Given the description of an element on the screen output the (x, y) to click on. 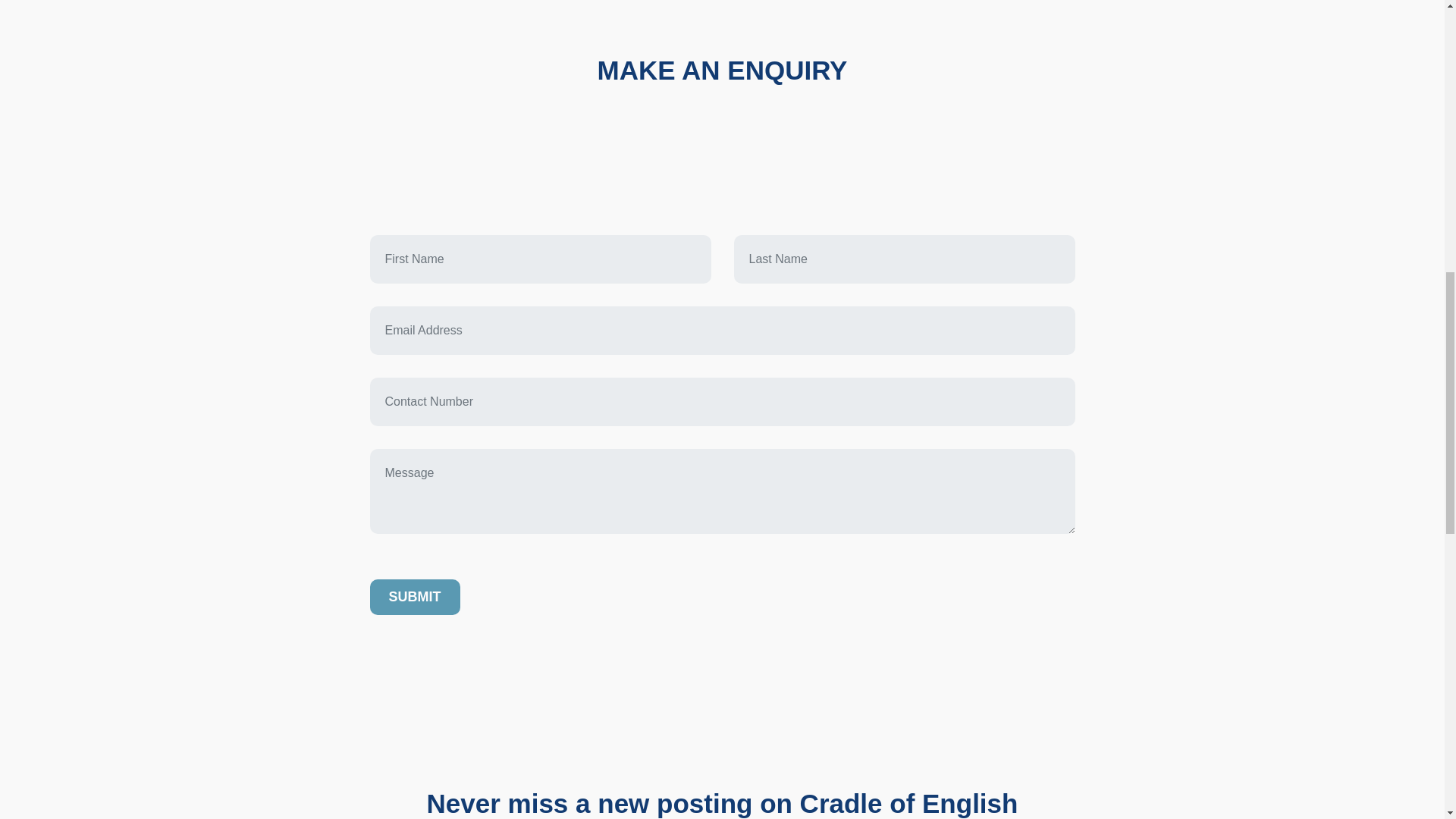
Submit (414, 597)
